Given the description of an element on the screen output the (x, y) to click on. 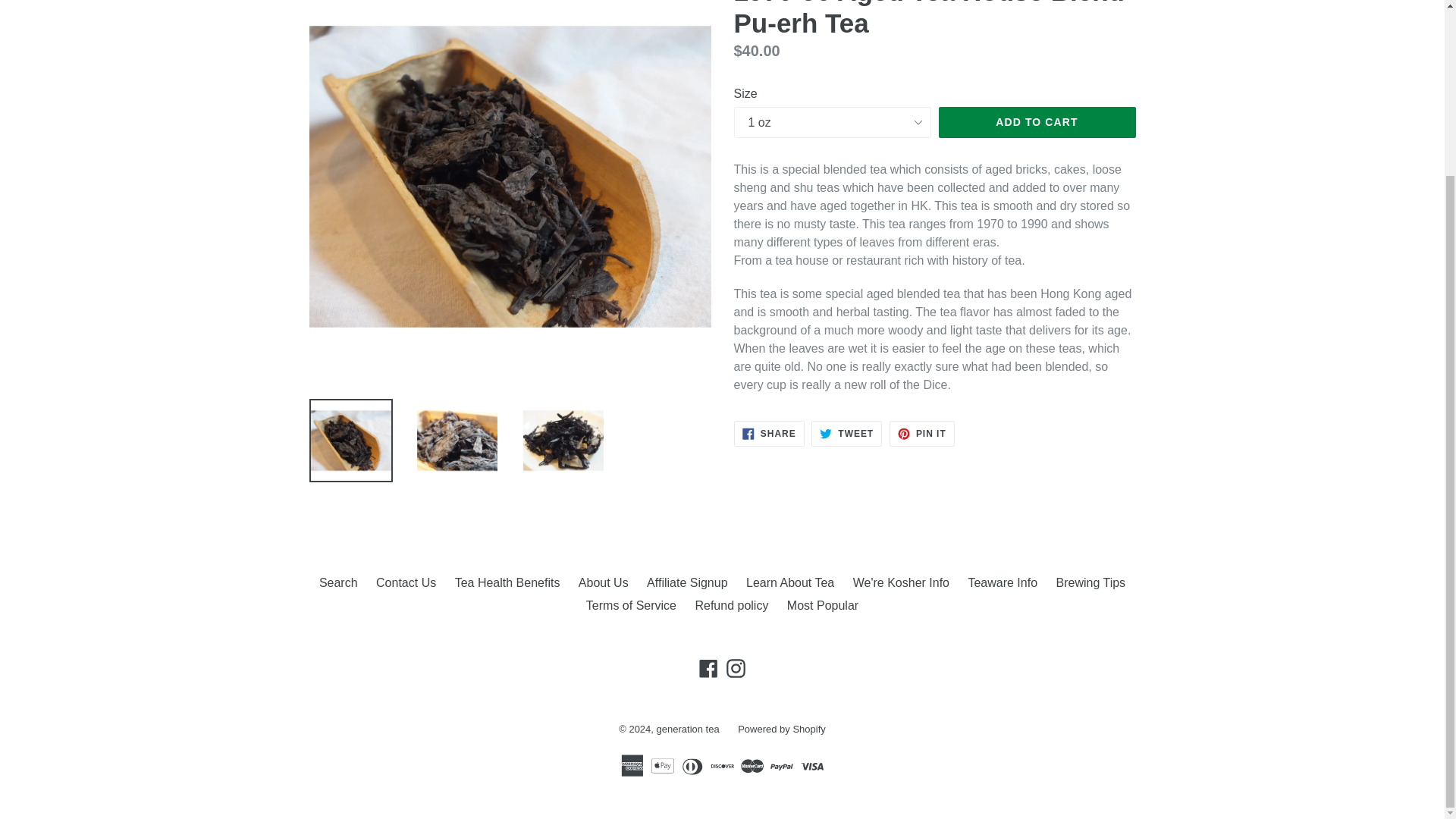
generation tea on Facebook (708, 668)
Share on Facebook (769, 433)
Pin on Pinterest (922, 433)
generation tea on Instagram (735, 668)
Tweet on Twitter (846, 433)
